Given the description of an element on the screen output the (x, y) to click on. 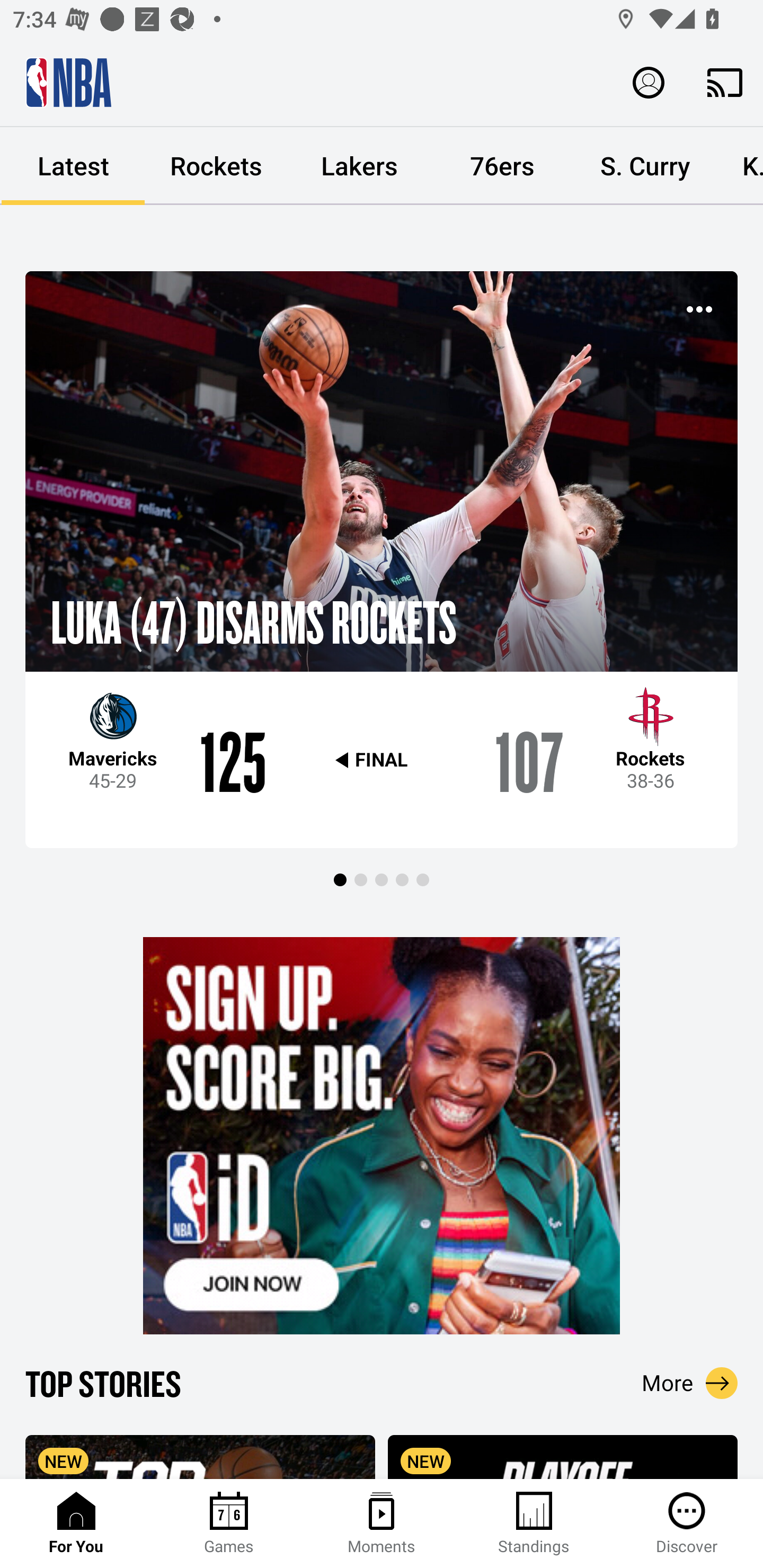
Cast. Disconnected (724, 82)
Profile (648, 81)
Rockets (215, 166)
Lakers (359, 166)
76ers (502, 166)
S. Curry (645, 166)
More (689, 1382)
Games (228, 1523)
Moments (381, 1523)
Standings (533, 1523)
Discover (686, 1523)
